Given the description of an element on the screen output the (x, y) to click on. 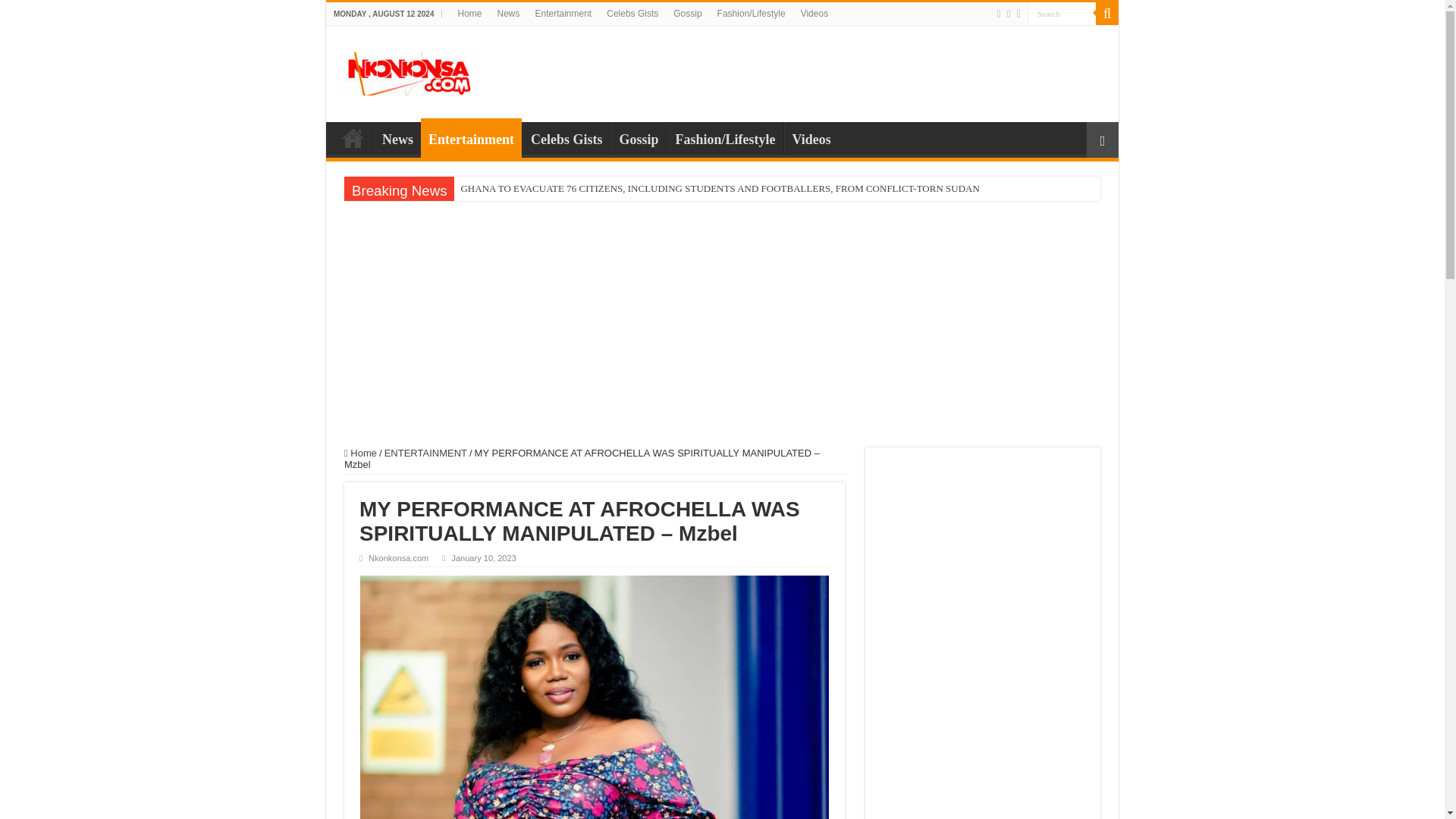
Search (1107, 13)
Home (469, 13)
Entertainment (470, 137)
Home (352, 137)
Gossip (687, 13)
News (397, 137)
Videos (814, 13)
Search (1061, 13)
Celebs Gists (631, 13)
